Given the description of an element on the screen output the (x, y) to click on. 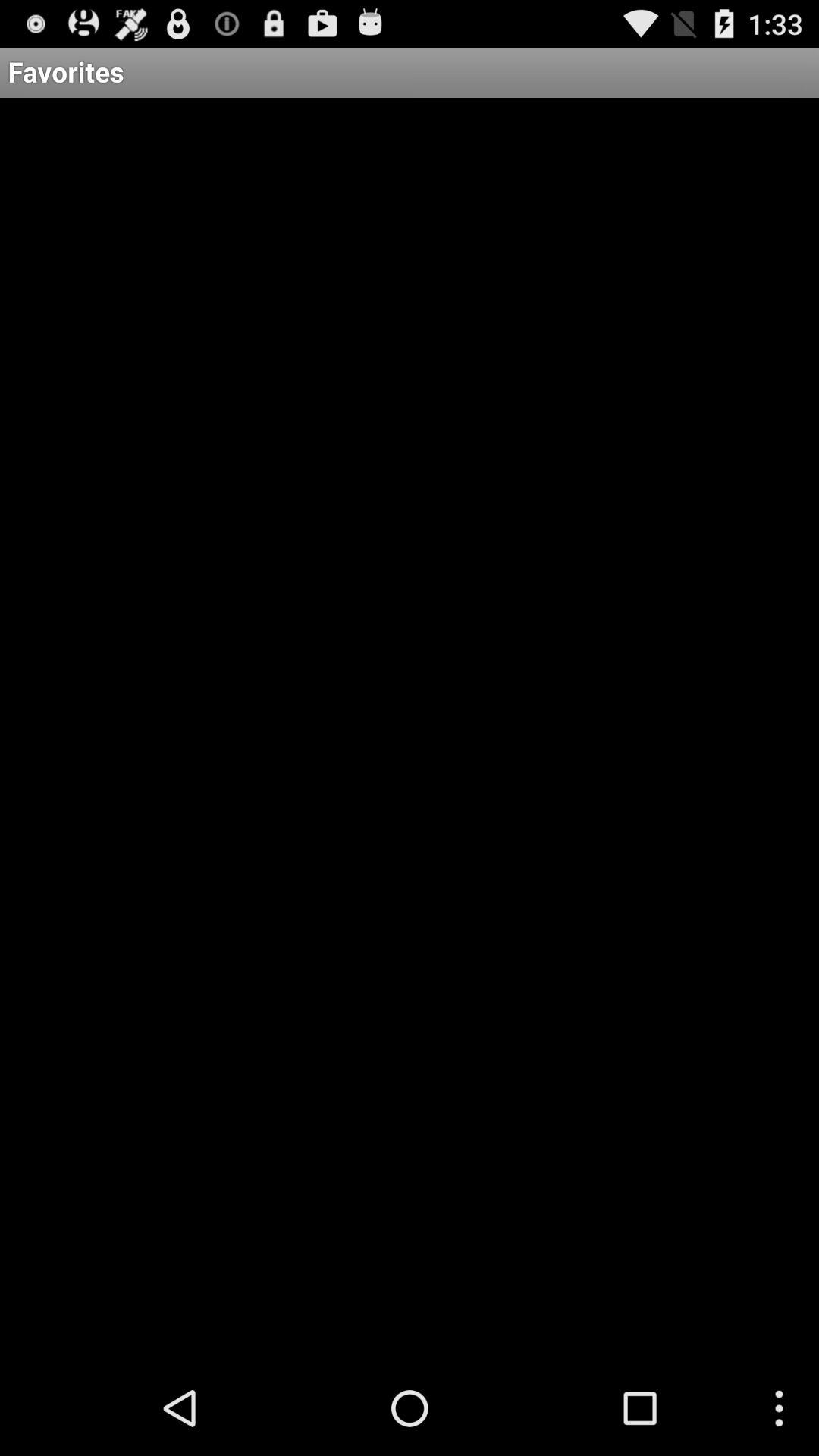
choose the icon at the center (409, 728)
